Given the description of an element on the screen output the (x, y) to click on. 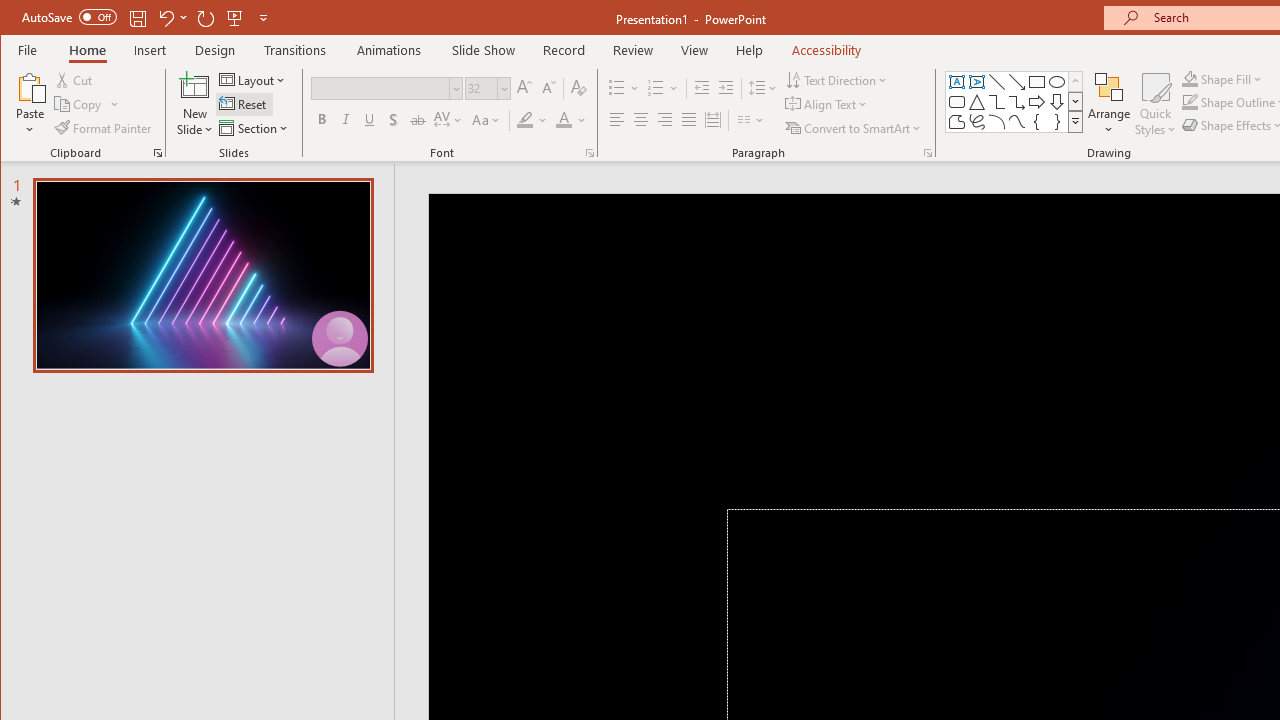
Row up (1074, 81)
Font Color (571, 119)
Shape Fill Orange, Accent 2 (1189, 78)
Strikethrough (417, 119)
Text Highlight Color Yellow (525, 119)
Line Spacing (764, 88)
Font... (589, 152)
